Given the description of an element on the screen output the (x, y) to click on. 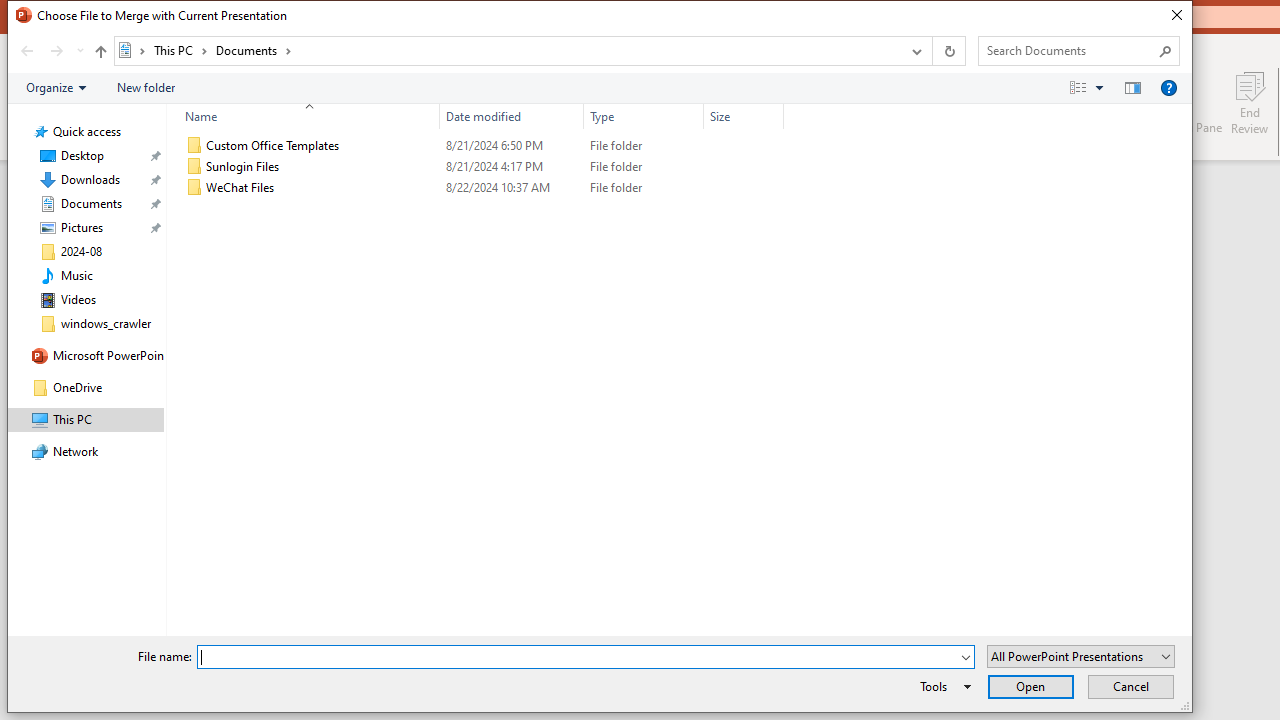
Date modified (511, 187)
Recent locations (79, 51)
Files of type: (1080, 656)
End Review (1249, 102)
Search Box (1069, 50)
Name (303, 115)
New folder (145, 87)
&Help (1168, 87)
Refresh "Documents" (F5) (948, 51)
Type (643, 187)
Address: Documents (506, 51)
Cancel (1130, 686)
Size (743, 115)
Organize (56, 87)
